Given the description of an element on the screen output the (x, y) to click on. 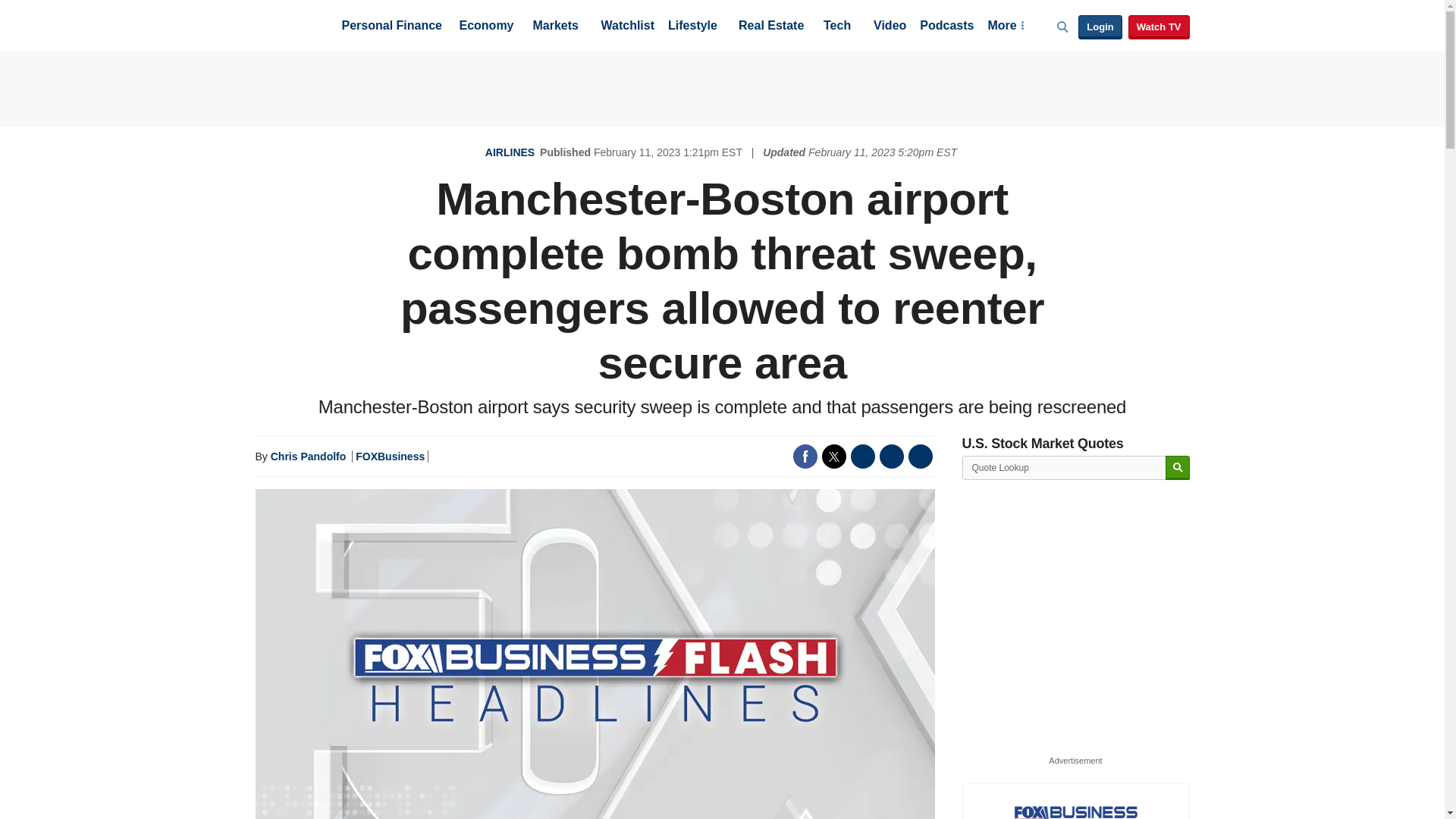
Real Estate (770, 27)
Search (1176, 467)
Fox Business (290, 24)
Watchlist (626, 27)
Personal Finance (391, 27)
Video (889, 27)
Tech (837, 27)
Lifestyle (692, 27)
Markets (555, 27)
More (1005, 27)
